Given the description of an element on the screen output the (x, y) to click on. 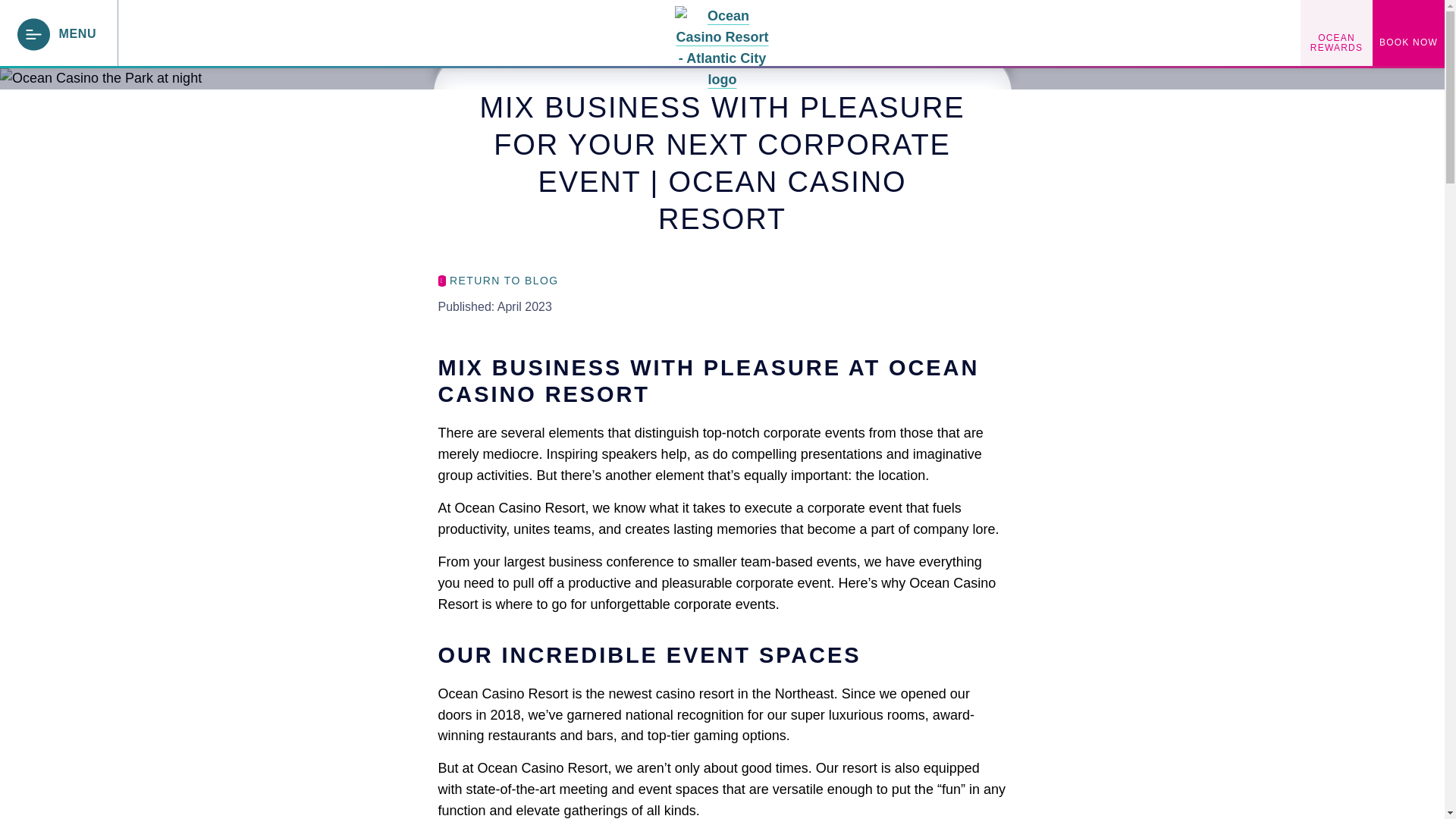
Ocean Casino Resort:Home (722, 31)
MENU (58, 34)
